Given the description of an element on the screen output the (x, y) to click on. 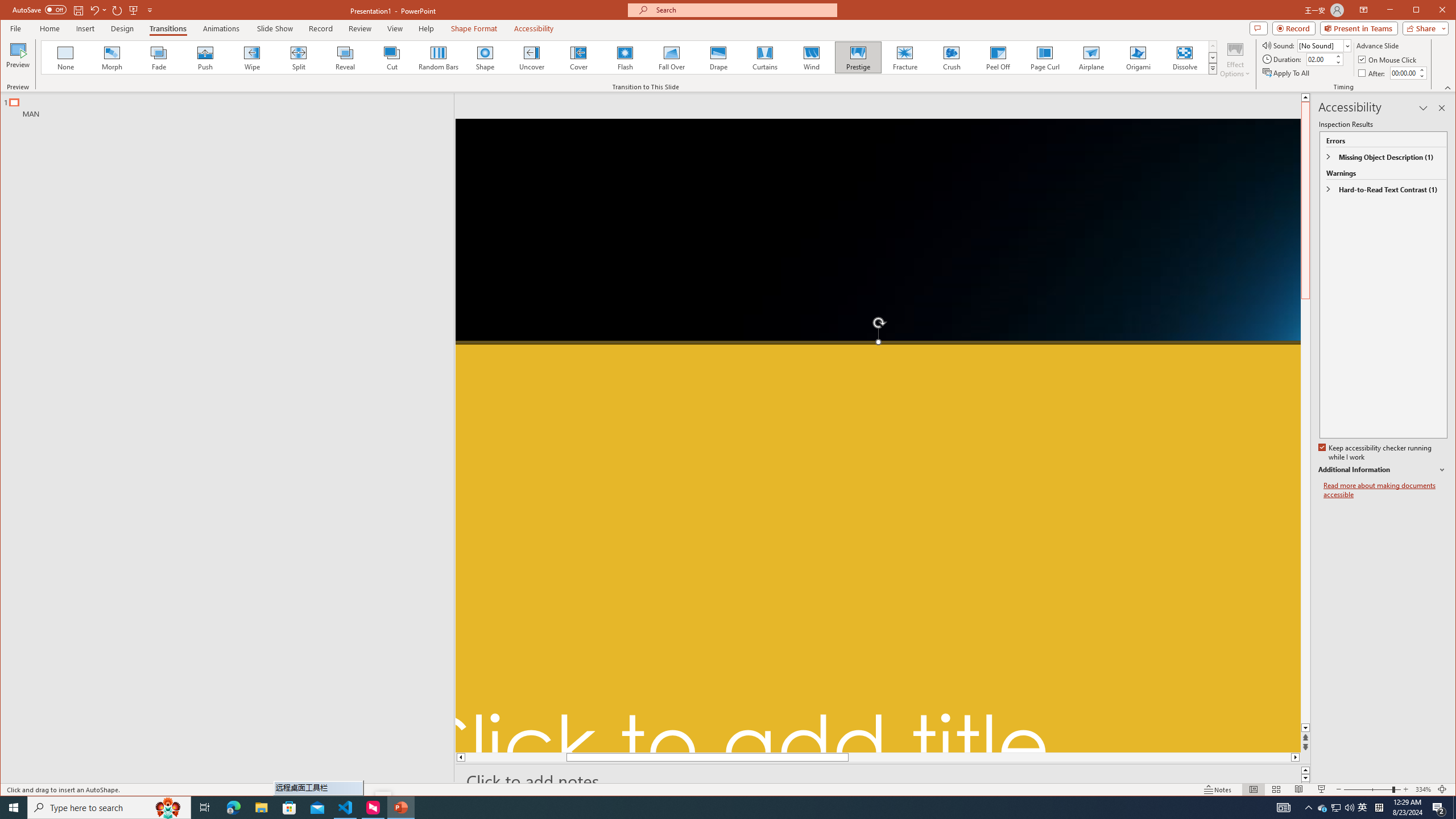
Airplane (1091, 57)
Minimize (1419, 11)
Insert (85, 28)
Row Down (1212, 57)
Uncover (531, 57)
Animations (221, 28)
Line down (1305, 728)
Microsoft search (742, 10)
Transitions (167, 28)
Shape (484, 57)
Open (1347, 45)
Split (298, 57)
